Given the description of an element on the screen output the (x, y) to click on. 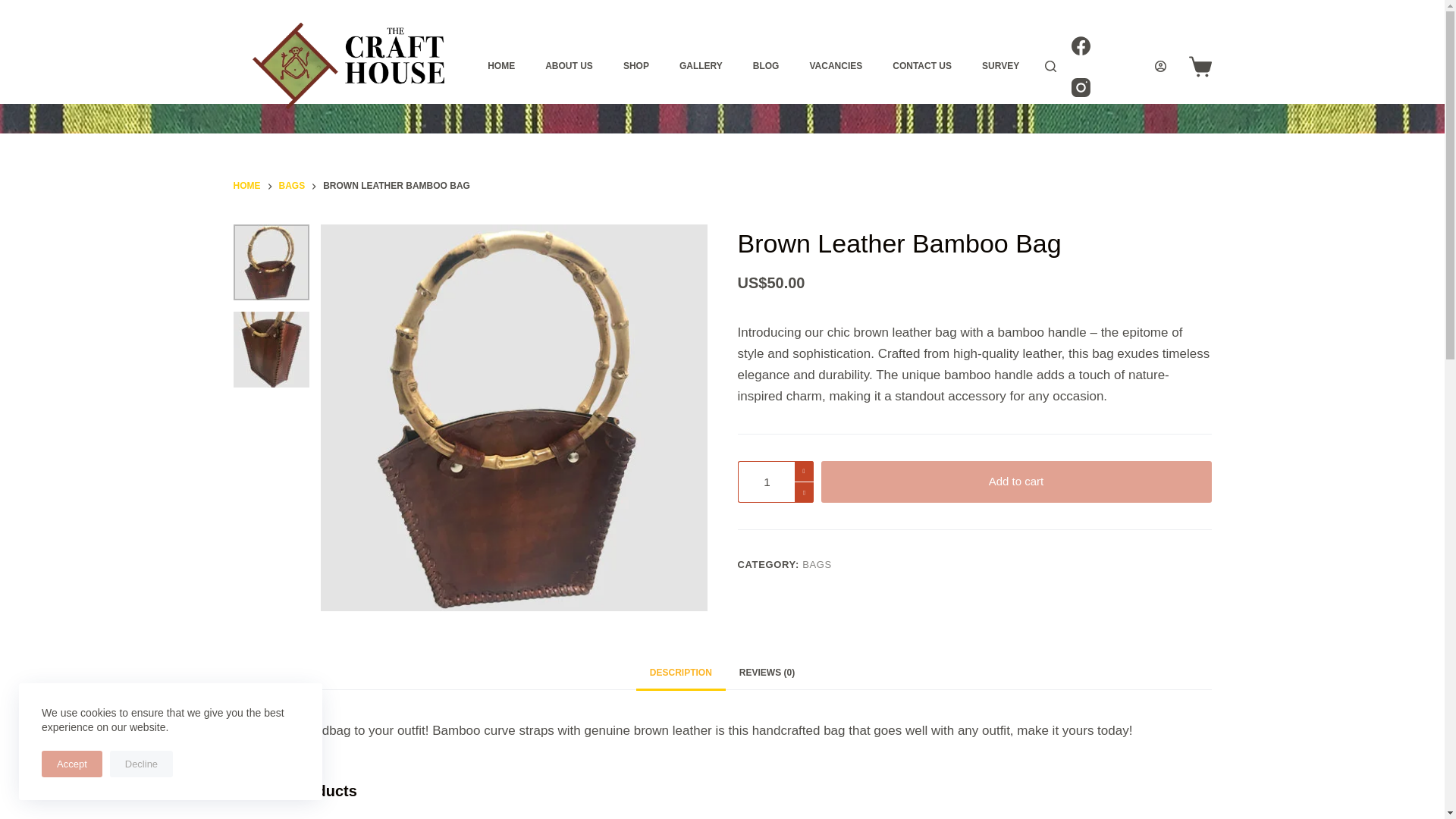
BAGS (292, 186)
brown-leather-bamboo-bag2 (270, 349)
VACANCIES (835, 66)
HOME (246, 186)
SURVEY (999, 66)
Accept (71, 764)
CONTACT US (921, 66)
Decline (141, 764)
Shopping cart (1200, 65)
